Given the description of an element on the screen output the (x, y) to click on. 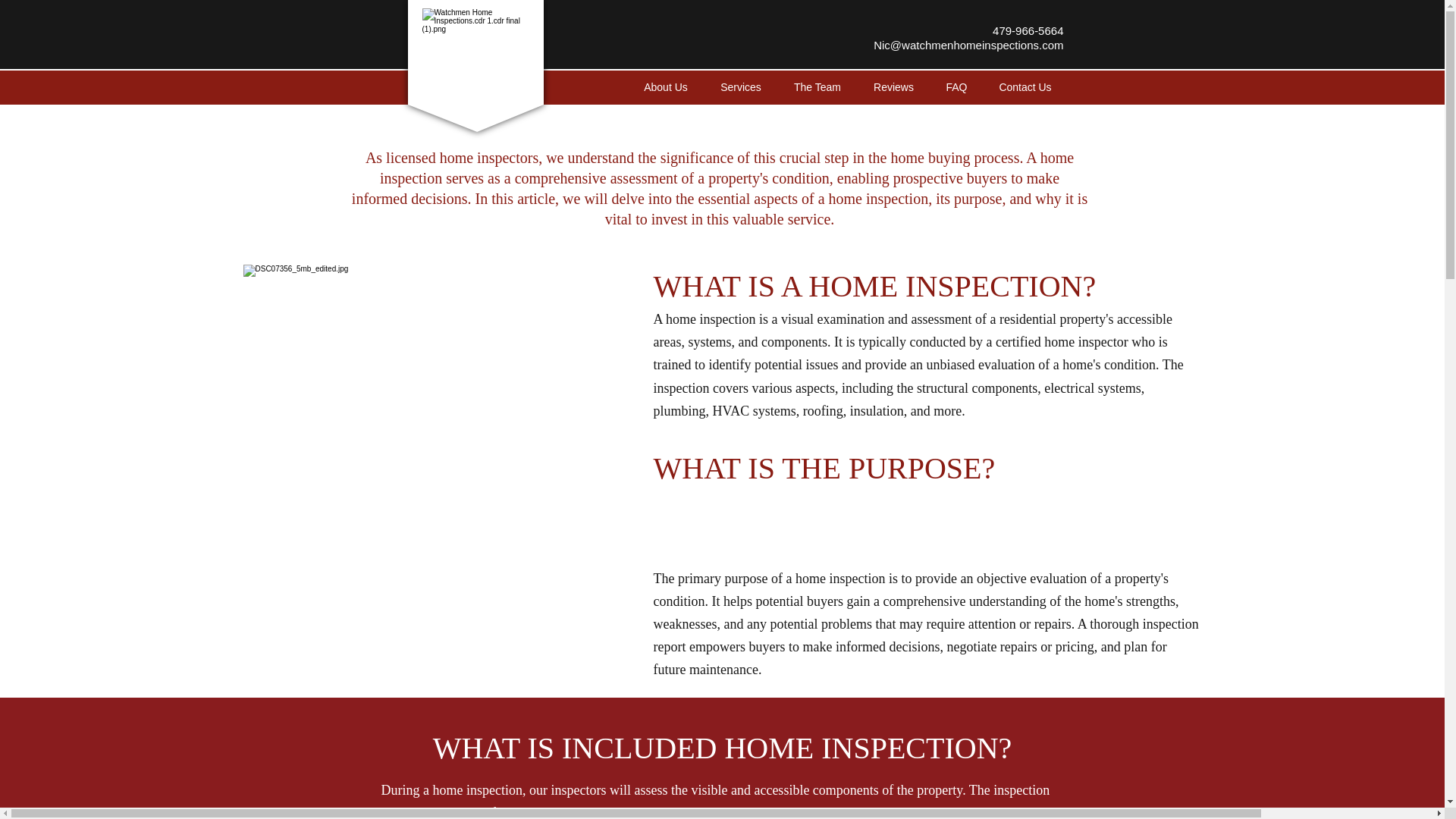
About Us (665, 86)
The Team (817, 86)
Reviews (893, 86)
Contact Us (1024, 86)
Services (740, 86)
479-966-5664 (1027, 30)
FAQ (956, 86)
